Given the description of an element on the screen output the (x, y) to click on. 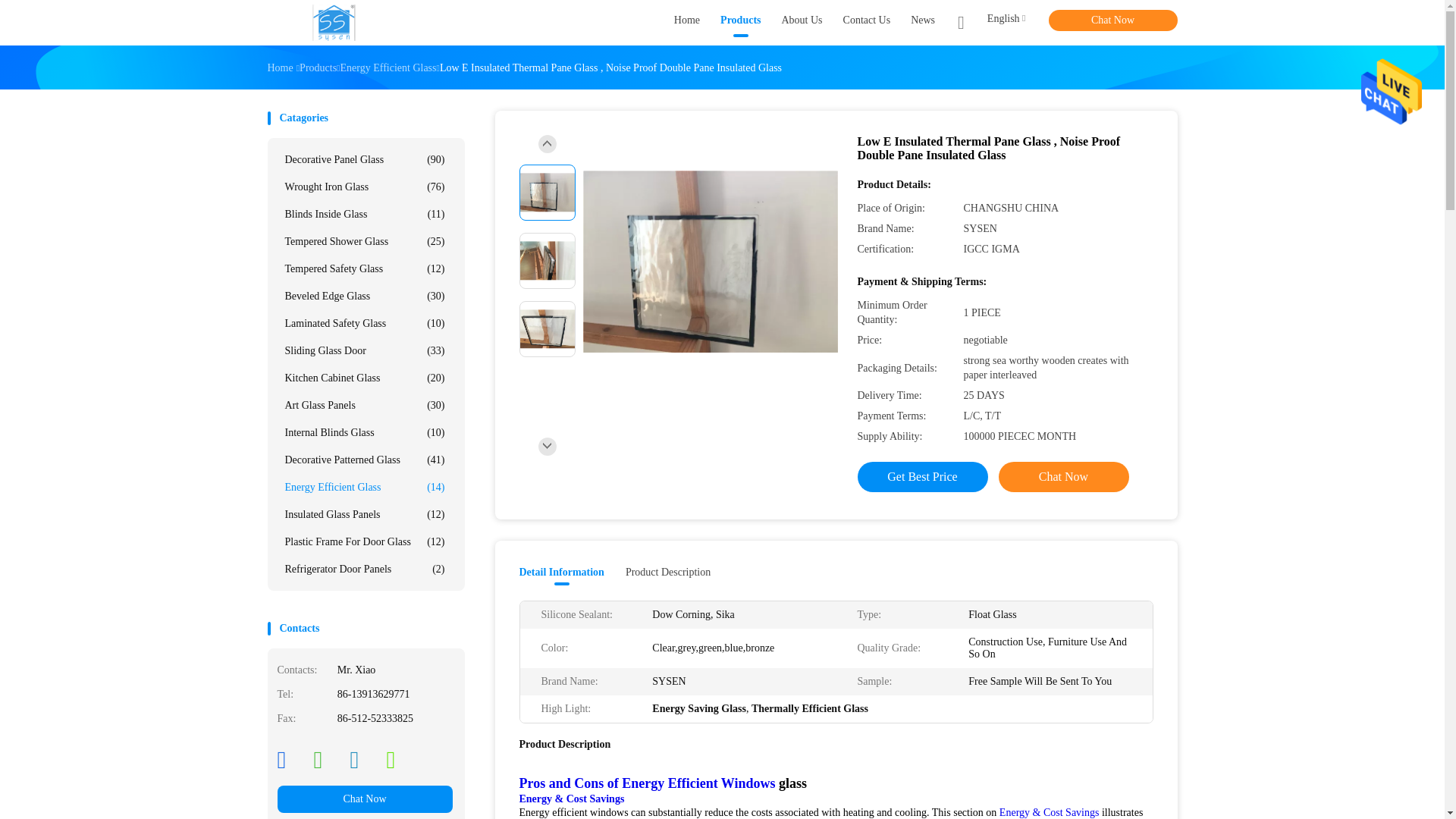
Products (740, 22)
Changshu Sysen glass products Co. Ltd. (333, 22)
News (922, 22)
Contact Us (867, 22)
About Us (801, 22)
Home (687, 22)
